Given the description of an element on the screen output the (x, y) to click on. 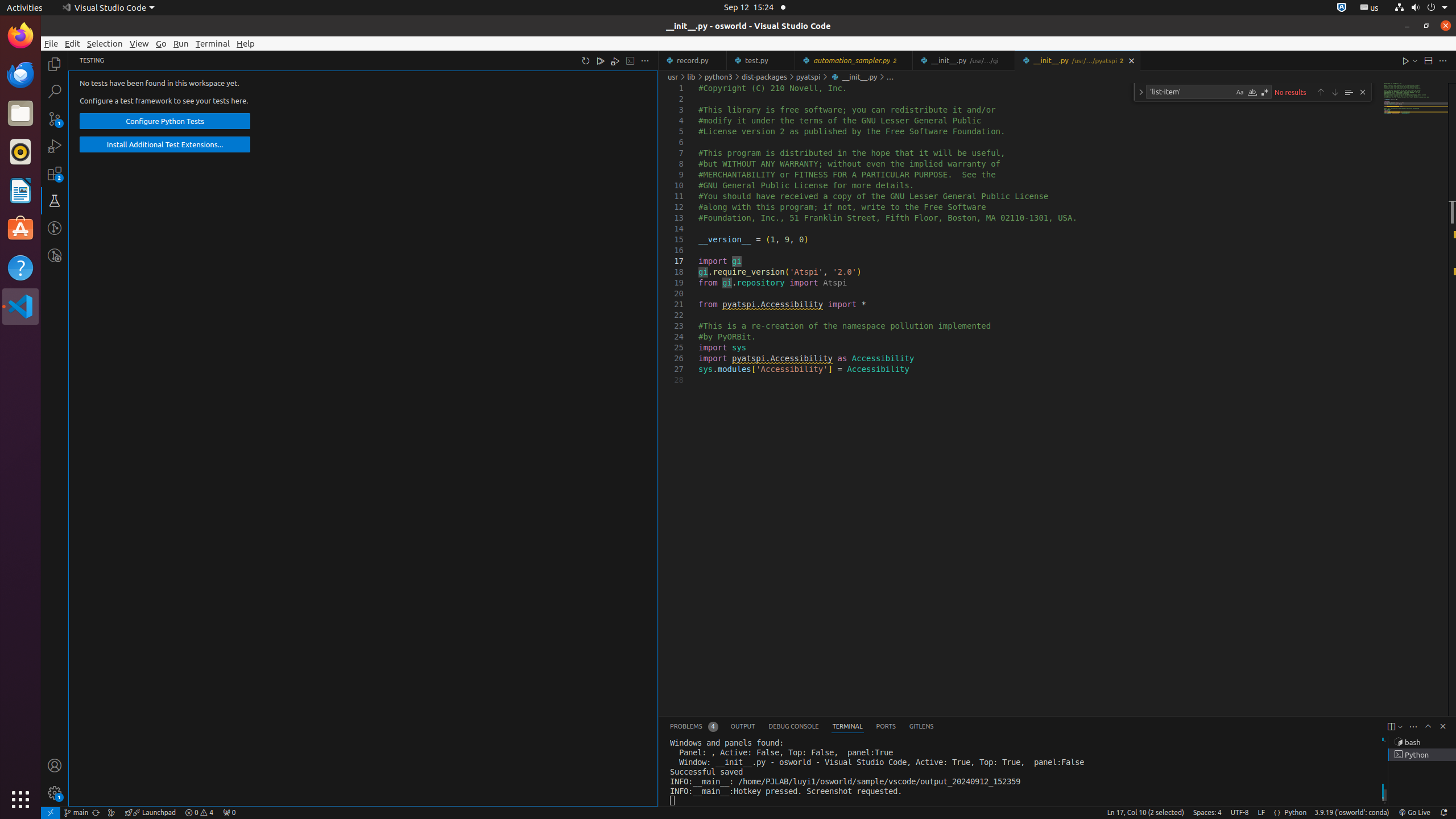
Terminal Element type: push-button (212, 43)
Extensions (Ctrl+Shift+X) - 2 require restart Extensions (Ctrl+Shift+X) - 2 require restart Element type: page-tab (54, 173)
Ports Element type: page-tab (885, 726)
Output (Ctrl+K Ctrl+H) Element type: page-tab (742, 726)
